Given the description of an element on the screen output the (x, y) to click on. 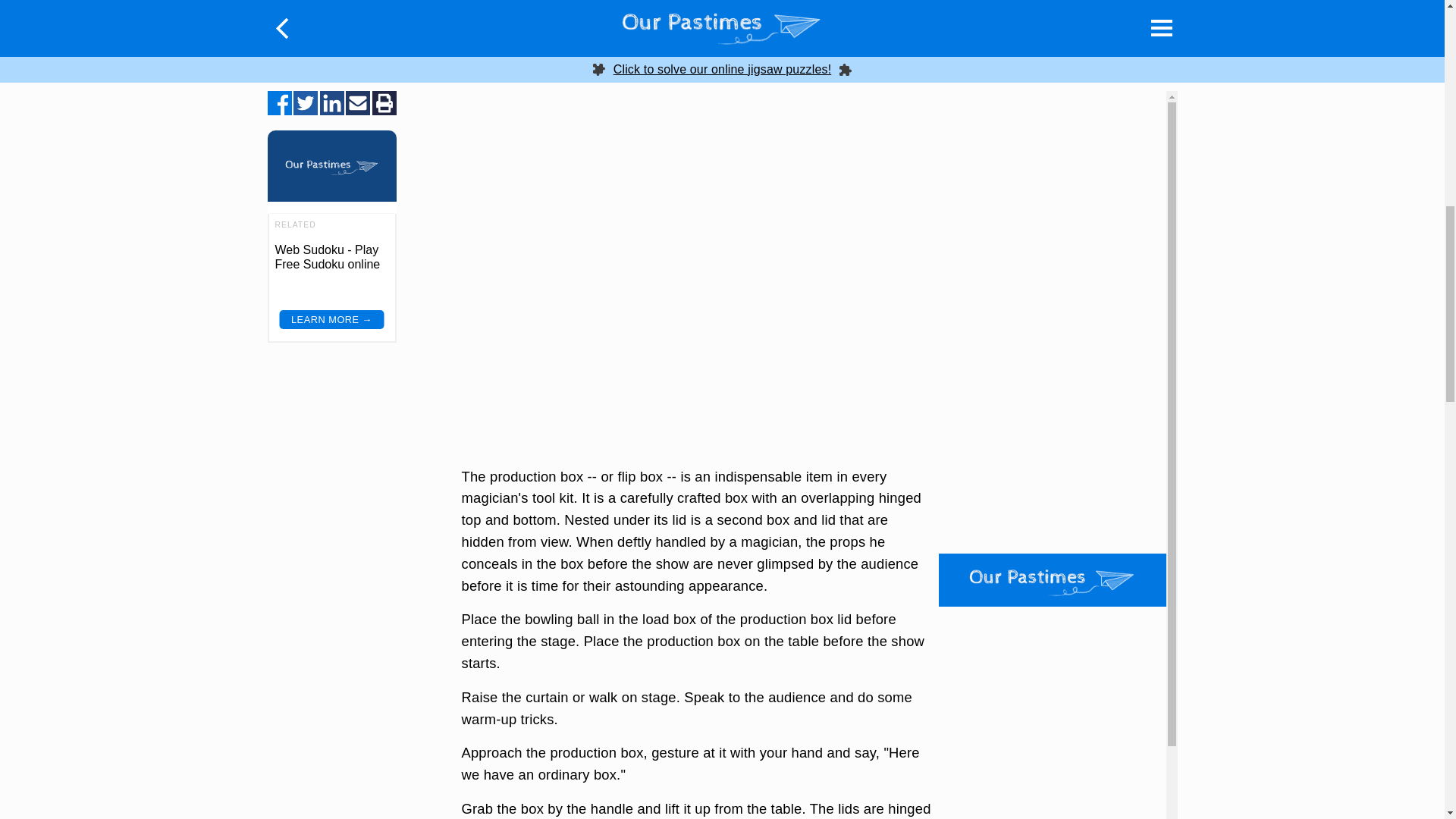
3rd party ad content (695, 122)
3rd party ad content (1052, 67)
